Given the description of an element on the screen output the (x, y) to click on. 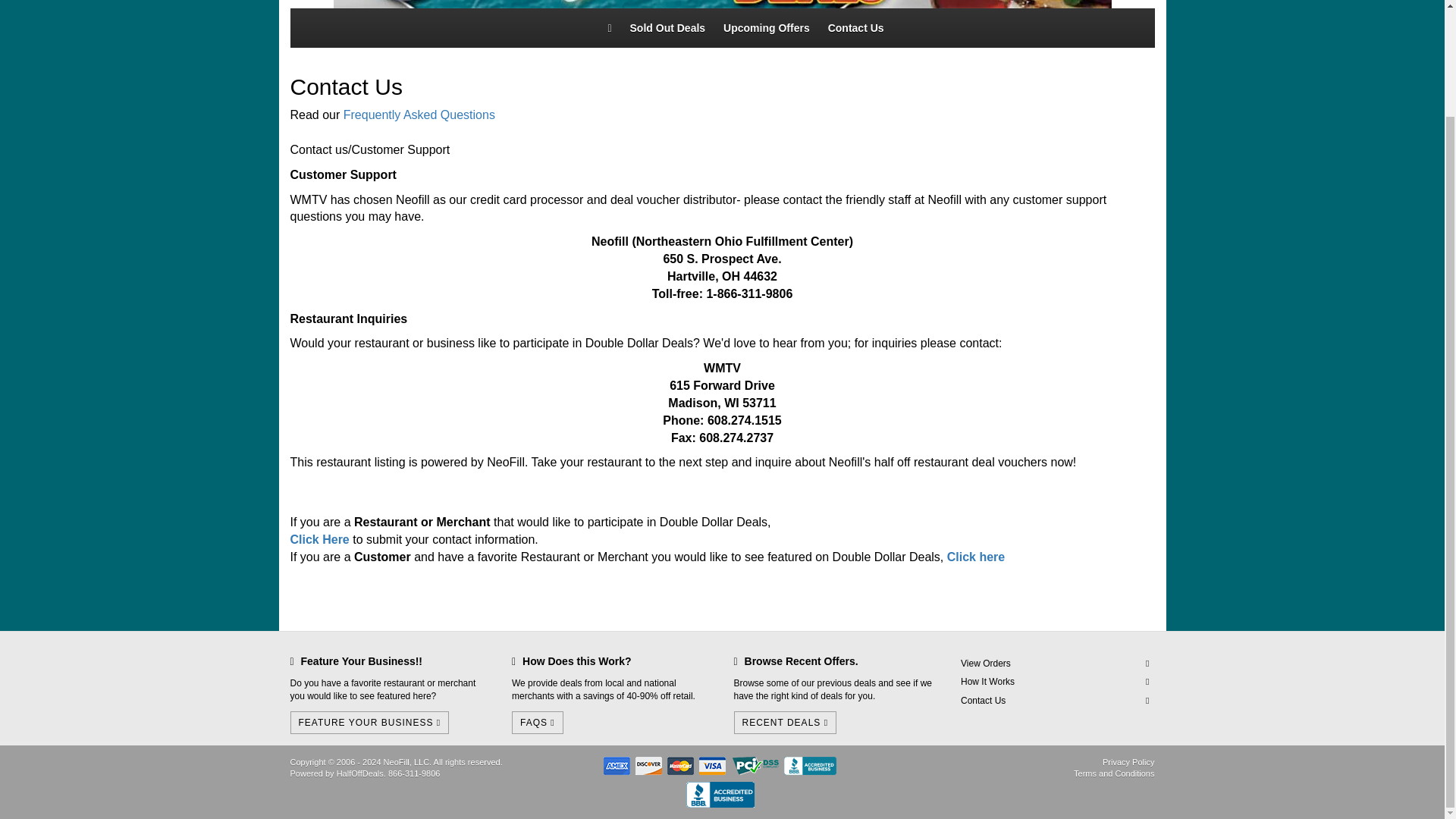
HalfOffDeals (360, 773)
Contact Us (1054, 700)
Click Here (319, 539)
Privacy Policy (1128, 761)
FEATURE YOUR BUSINESS (368, 721)
Upcoming Offers (766, 27)
View Orders (1054, 663)
Contact Us (855, 27)
NEOFILL LLC BBB Business Review (719, 791)
NeoFill, LLC (406, 761)
Sold Out Deals (667, 27)
FAQS (537, 721)
Click here (975, 556)
Frequently Asked Questions (419, 114)
RECENT DEALS (785, 721)
